Given the description of an element on the screen output the (x, y) to click on. 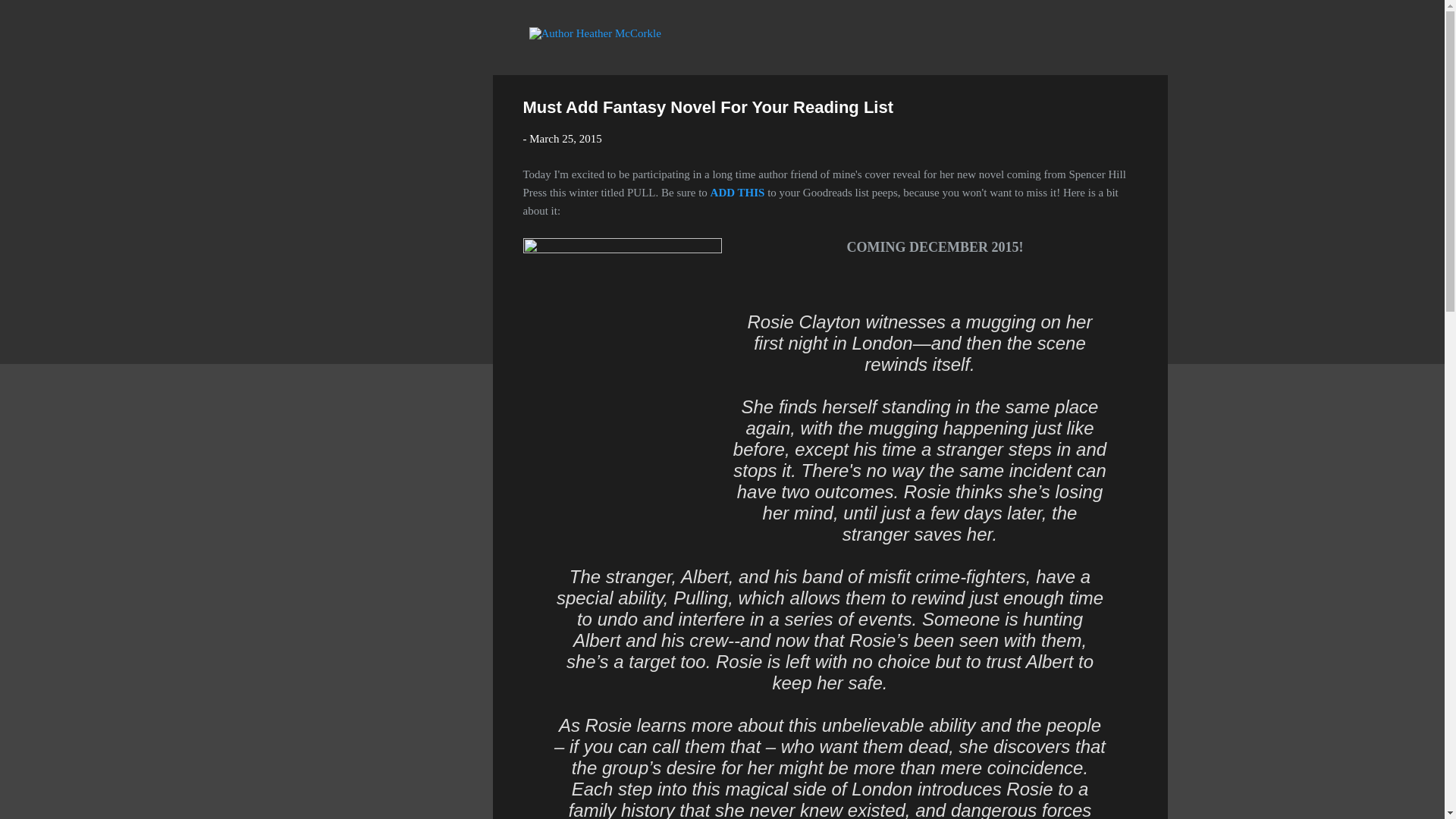
March 25, 2015 (565, 138)
Search (29, 18)
ADD THIS (737, 192)
permanent link (565, 138)
